Given the description of an element on the screen output the (x, y) to click on. 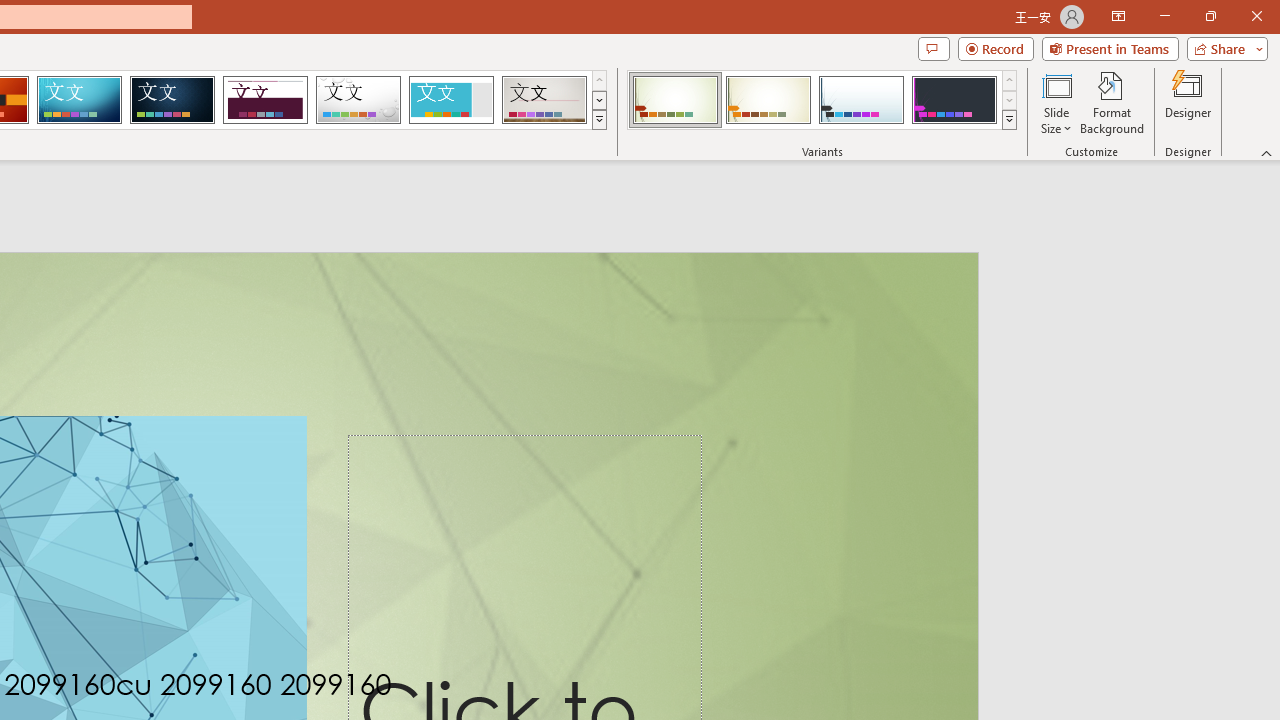
Frame Loading Preview... (450, 100)
Format Background (1111, 102)
Damask Loading Preview... (171, 100)
Droplet Loading Preview... (358, 100)
Variants (1009, 120)
Circuit Loading Preview... (79, 100)
Themes (598, 120)
Wisp Variant 2 (768, 100)
Dividend Loading Preview... (265, 100)
